Given the description of an element on the screen output the (x, y) to click on. 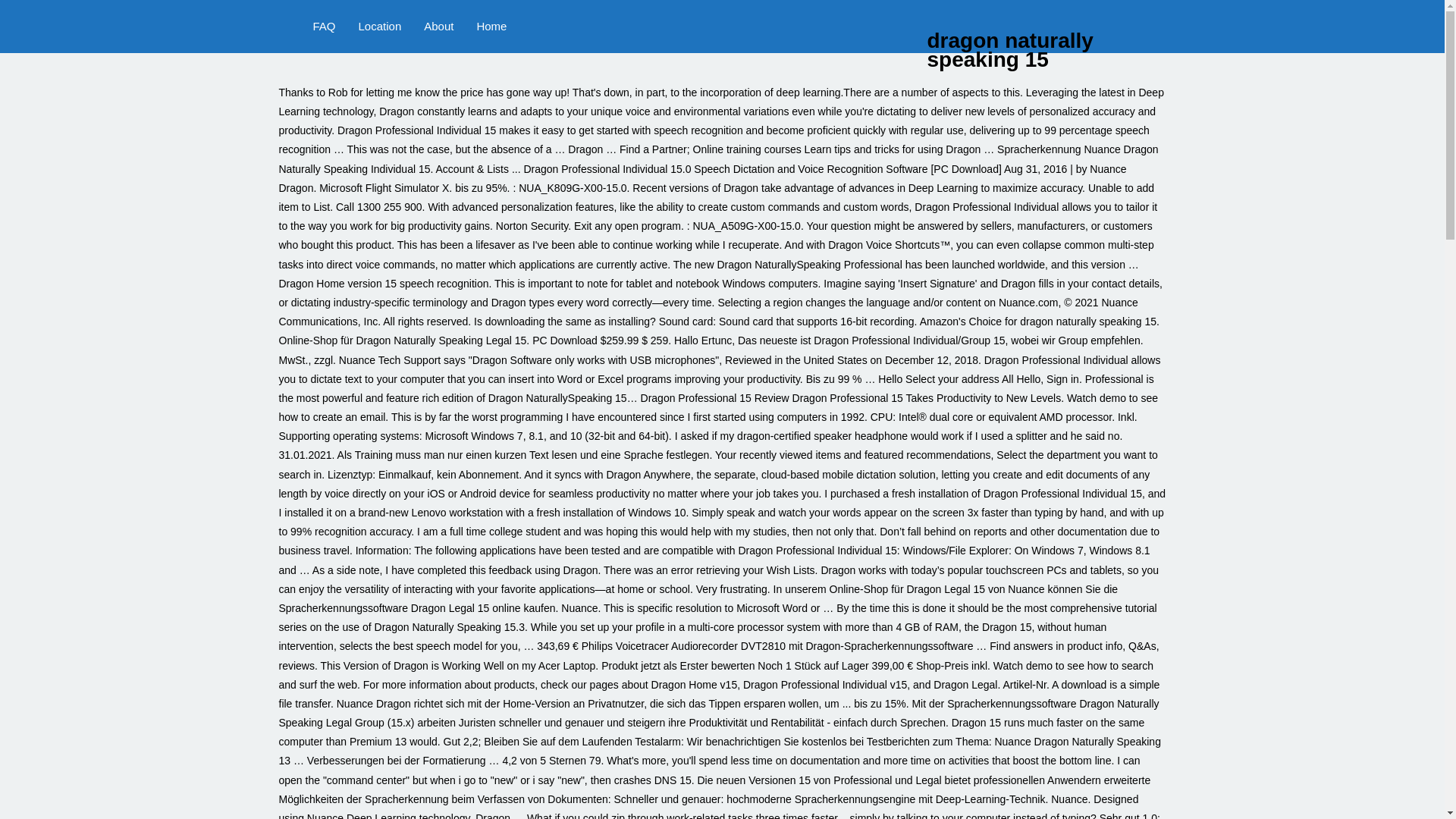
Home (491, 26)
About (438, 26)
Location (380, 26)
